Given the description of an element on the screen output the (x, y) to click on. 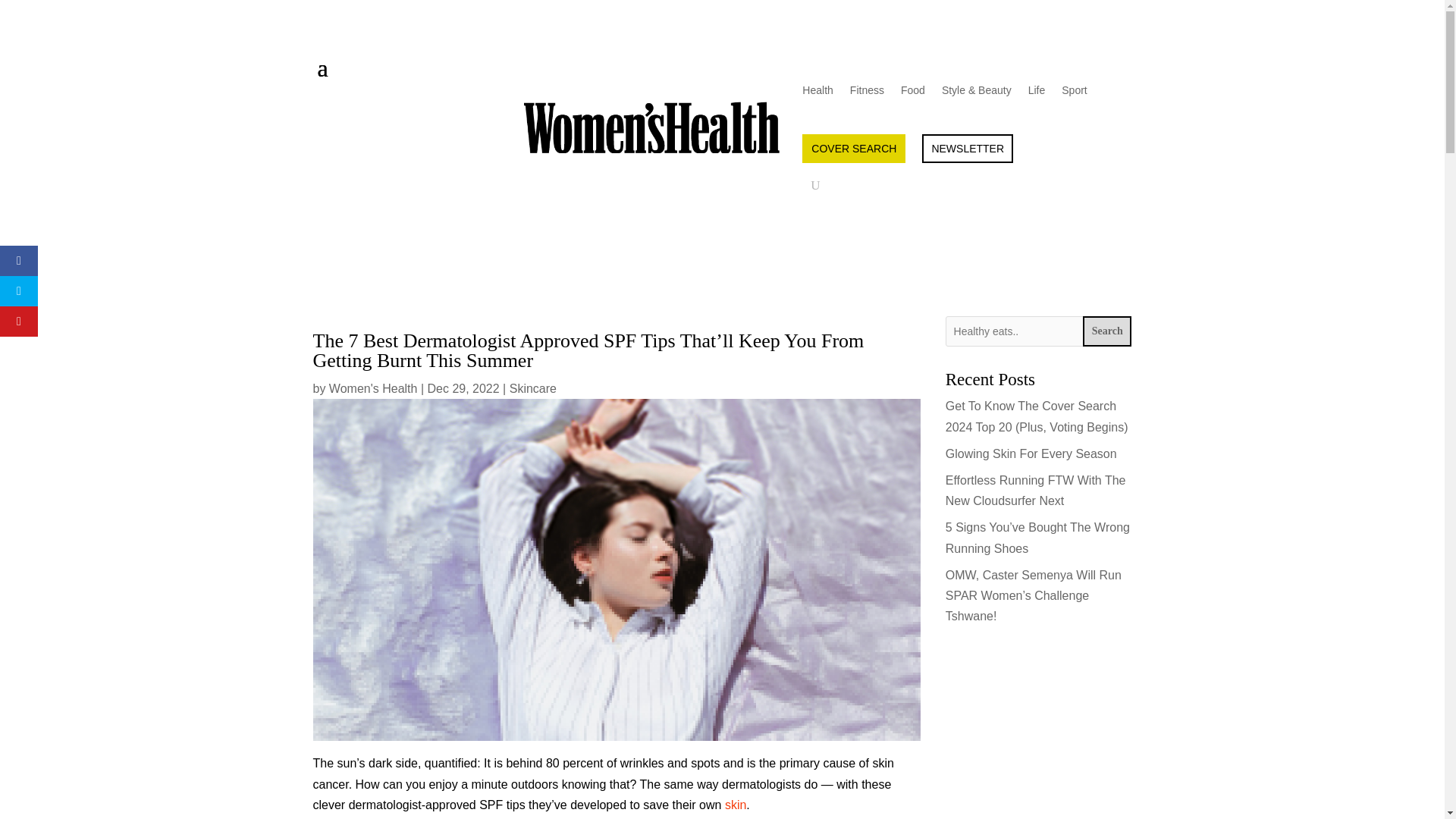
Posts by Women's Health (373, 388)
